Given the description of an element on the screen output the (x, y) to click on. 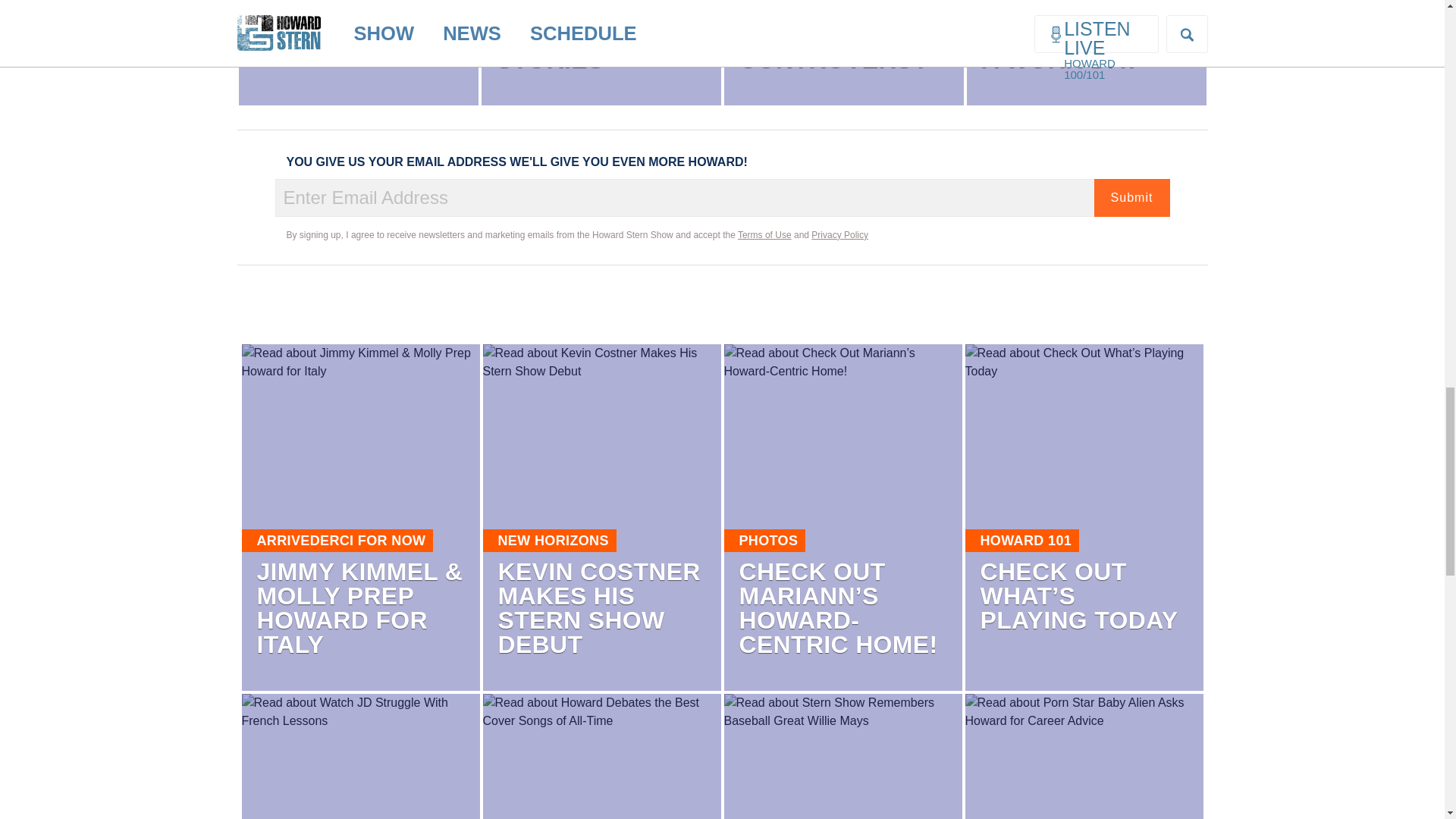
KEVIN COSTNER MAKES HIS STERN SHOW DEBUT (598, 607)
Privacy Policy (838, 235)
MEMET WALKER GETS ANOTHER IDEA REJECTED (354, 24)
Terms of Use (765, 235)
Submit (1131, 198)
